Given the description of an element on the screen output the (x, y) to click on. 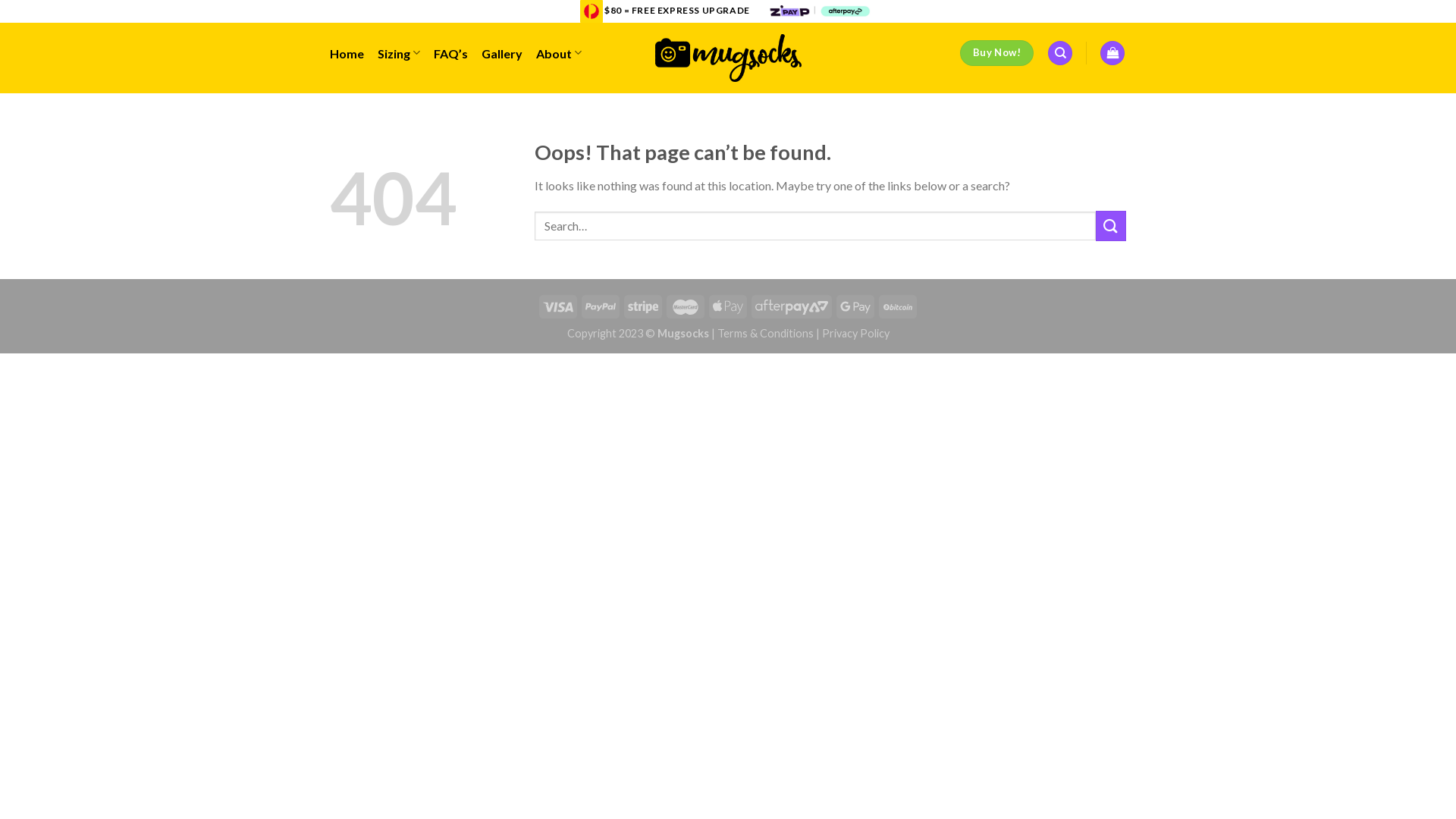
Buy Now! Element type: text (996, 52)
Home Element type: text (346, 52)
Gallery Element type: text (501, 52)
Cart Element type: hover (1112, 52)
Sizing Element type: text (398, 52)
About Element type: text (558, 52)
Terms & Conditions | Privacy Policy Element type: text (803, 332)
Mugsocks - Custom socks and pluggers. Element type: hover (728, 57)
